Given the description of an element on the screen output the (x, y) to click on. 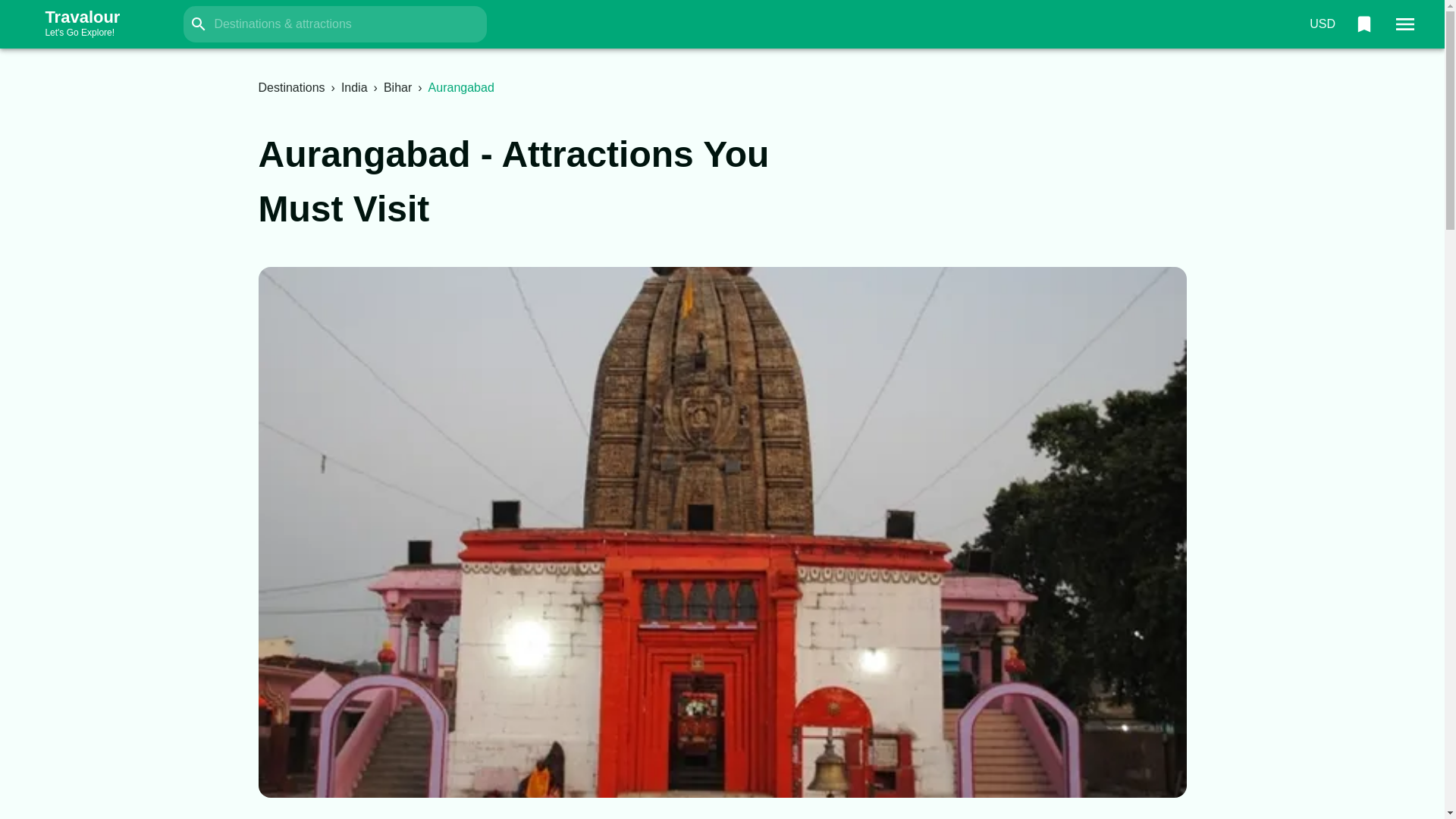
Destinations (97, 23)
Bihar (290, 87)
USD (398, 87)
0 (1321, 23)
India (1363, 24)
